Given the description of an element on the screen output the (x, y) to click on. 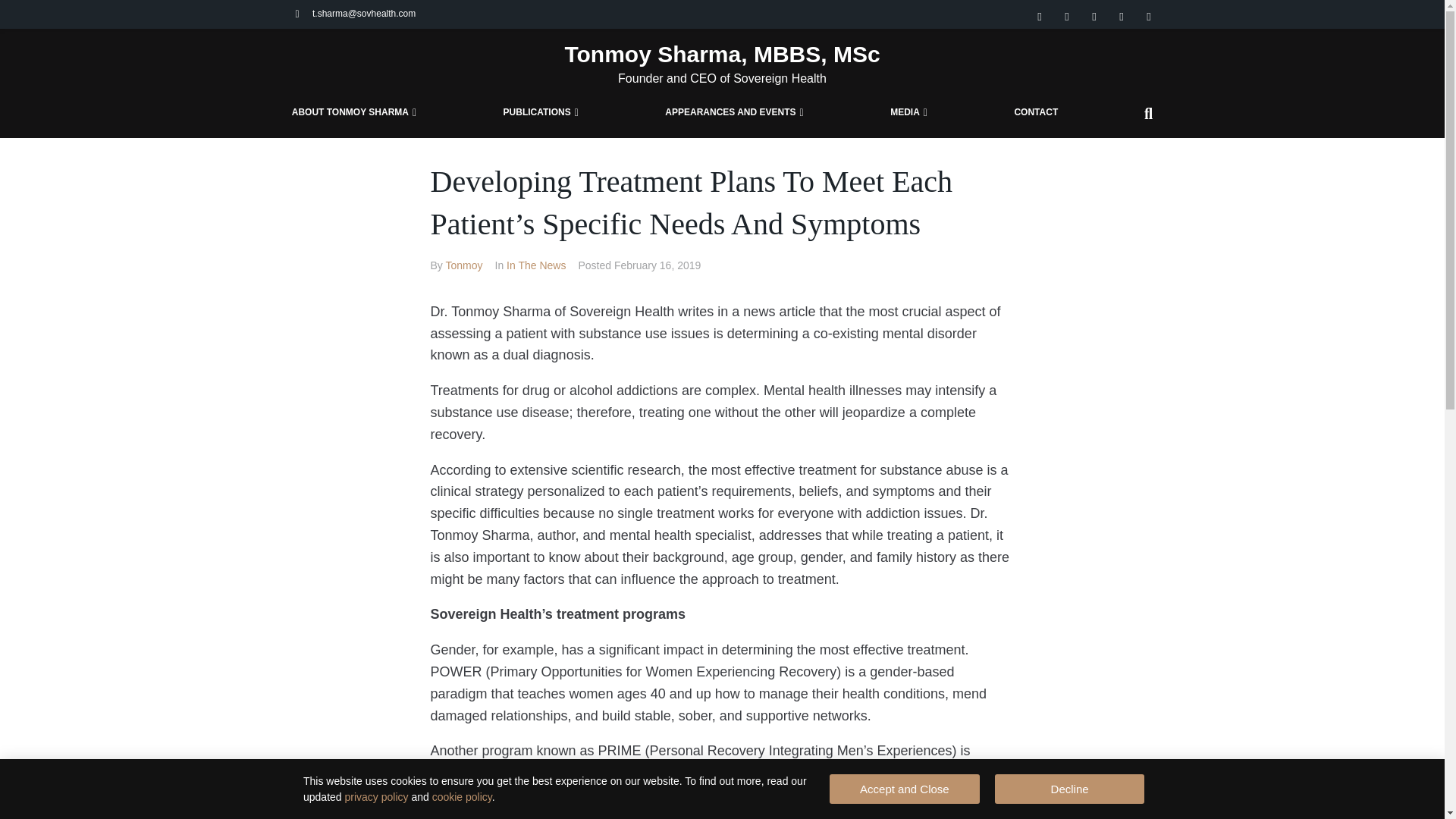
Tonmoy Sharma, MBBS, MSc (721, 54)
ABOUT TONMOY SHARMA (354, 113)
MEDIA (908, 113)
APPEARANCES AND EVENTS (734, 113)
CONTACT (1035, 113)
PUBLICATIONS (540, 113)
Tonmoy (463, 265)
In The News (536, 265)
